Given the description of an element on the screen output the (x, y) to click on. 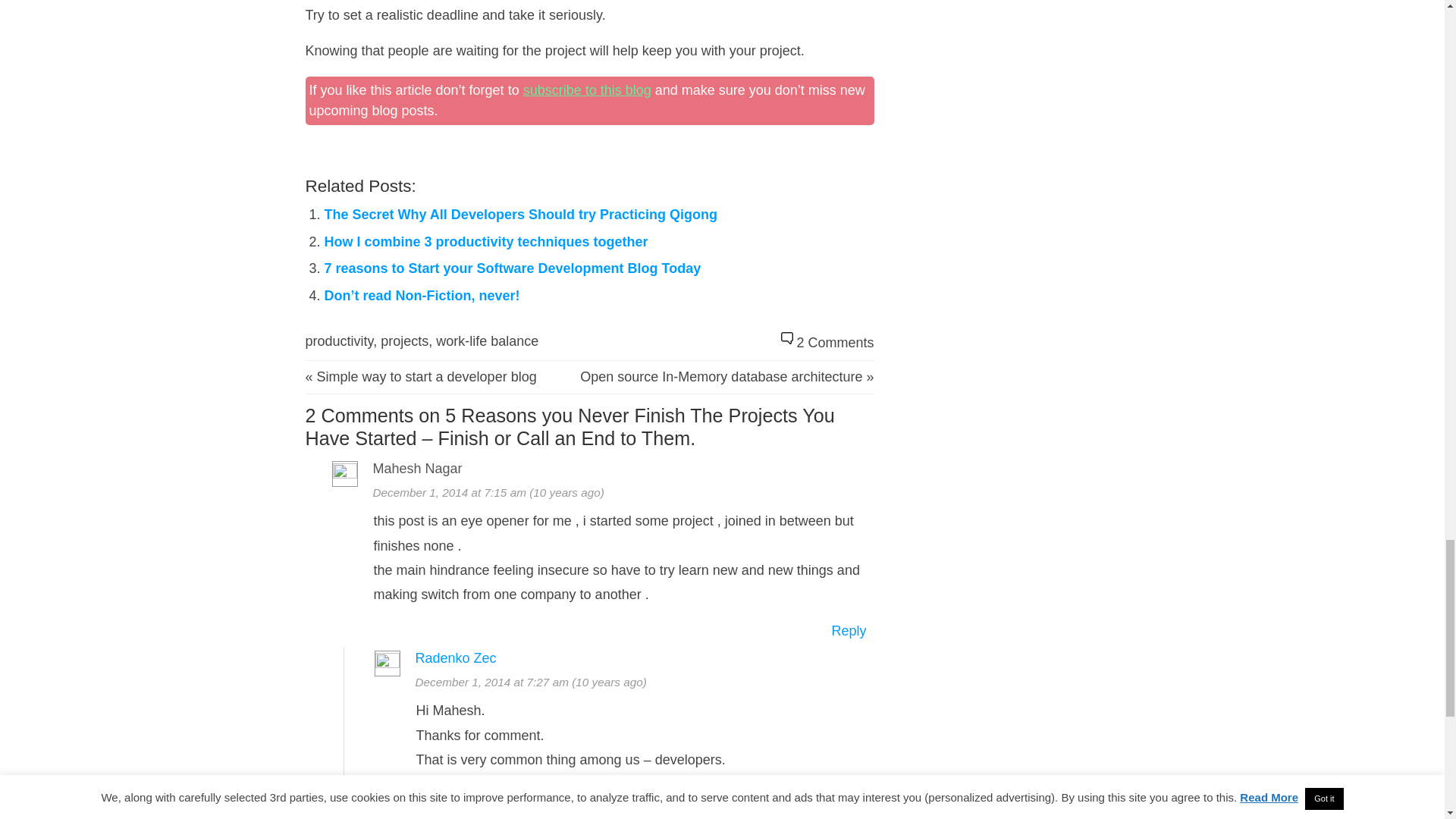
7 reasons to Start your Software Development Blog Today (512, 268)
7 reasons to Start your Software Development Blog Today (512, 268)
work-life balance (486, 340)
Open source In-Memory database architecture (720, 376)
subscribe to this blog (586, 89)
2 Comments (834, 342)
Radenko Zec (455, 657)
How I combine 3 productivity techniques together (485, 241)
productivity (338, 340)
Reply (848, 630)
The Secret Why All Developers Should try Practicing Qigong (520, 214)
How I combine 3 productivity techniques together (485, 241)
projects (404, 340)
Simple way to start a developer blog (427, 376)
The Secret Why All Developers Should try Practicing Qigong (520, 214)
